Given the description of an element on the screen output the (x, y) to click on. 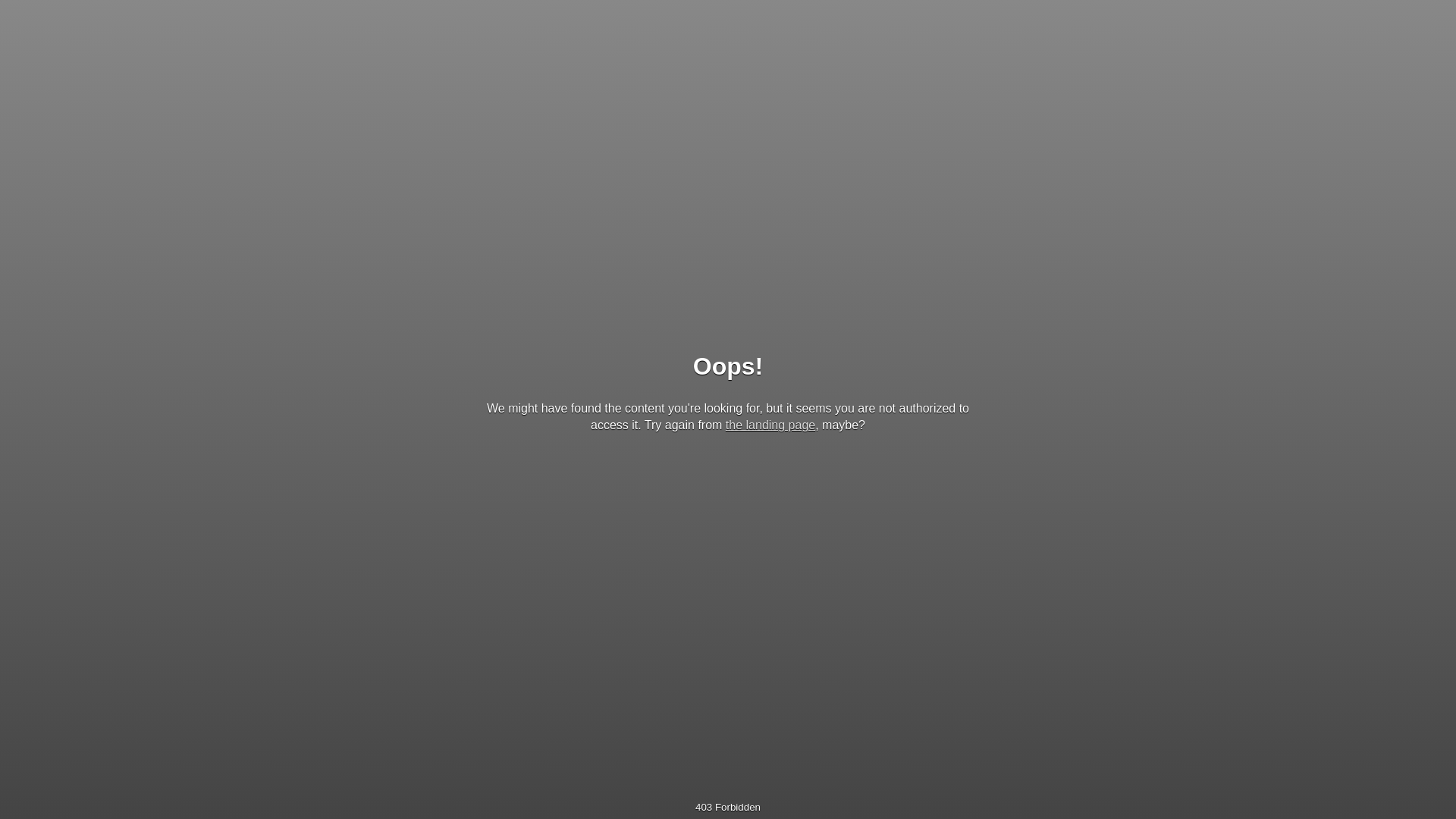
the landing page (770, 424)
